Given the description of an element on the screen output the (x, y) to click on. 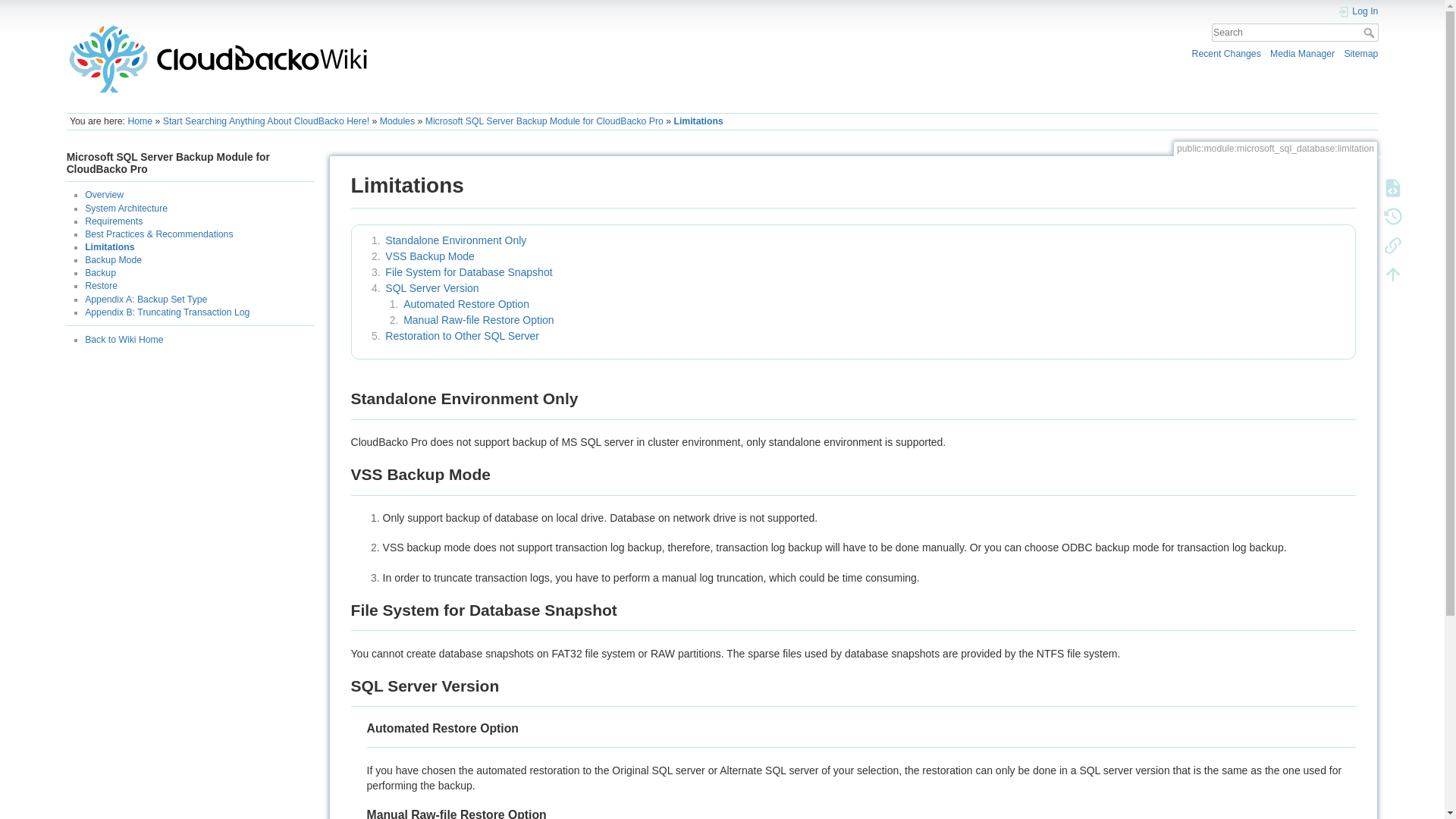
Back to Wiki Home (123, 339)
Restoration to Other SQL Server (461, 336)
home (140, 121)
Appendix B: Truncating Transaction Log (166, 312)
Sitemap (1360, 53)
Log In (1358, 11)
Recent Changes (1226, 53)
public:module:home (397, 121)
SQL Server Version (432, 287)
System Architecture (125, 208)
